Given the description of an element on the screen output the (x, y) to click on. 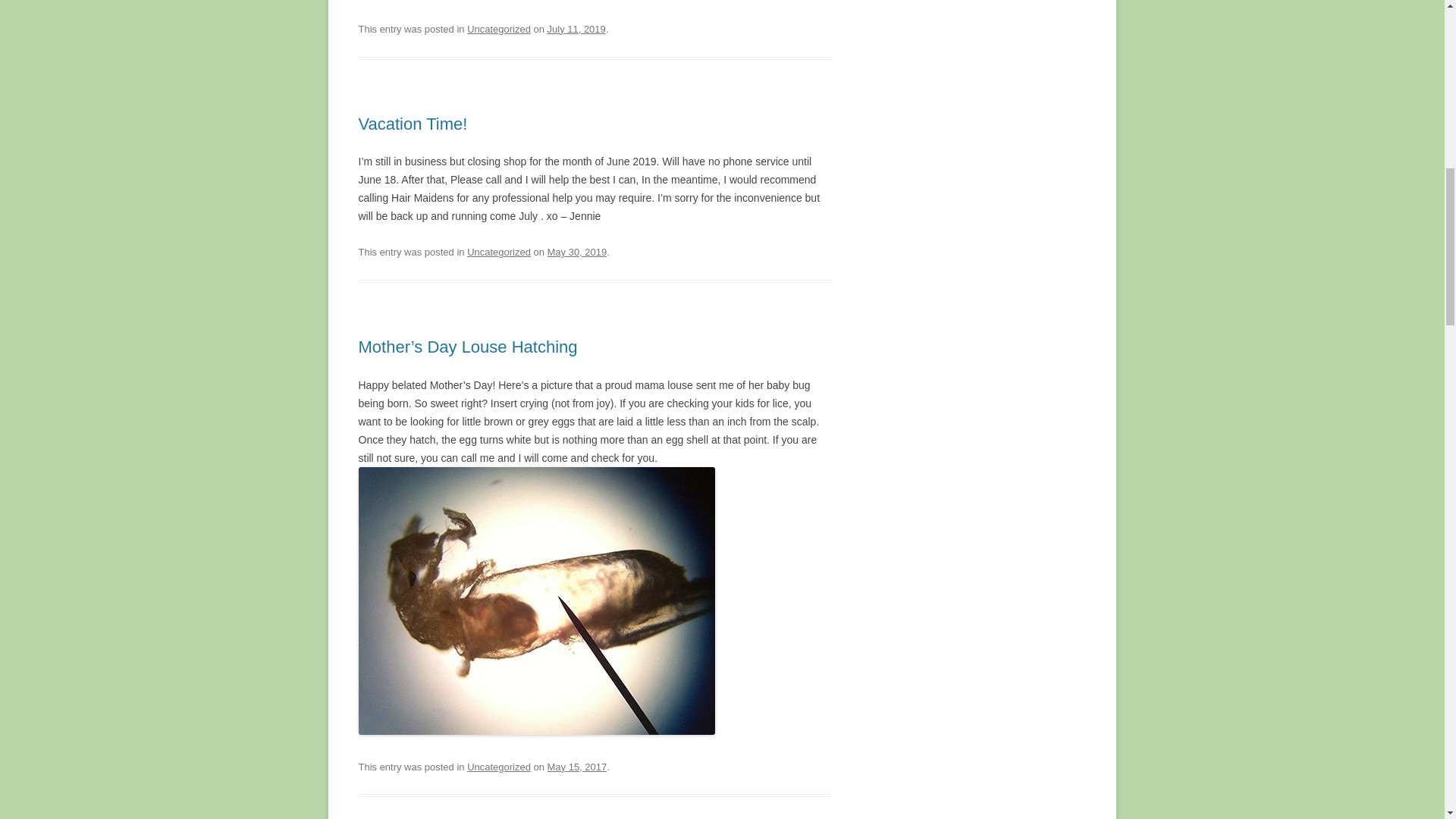
3:16 pm (577, 251)
May 30, 2019 (577, 251)
9:16 am (577, 767)
Uncategorized (499, 767)
2:48 pm (576, 29)
Uncategorized (499, 29)
Vacation Time! (412, 123)
May 15, 2017 (577, 767)
Uncategorized (499, 251)
July 11, 2019 (576, 29)
